Given the description of an element on the screen output the (x, y) to click on. 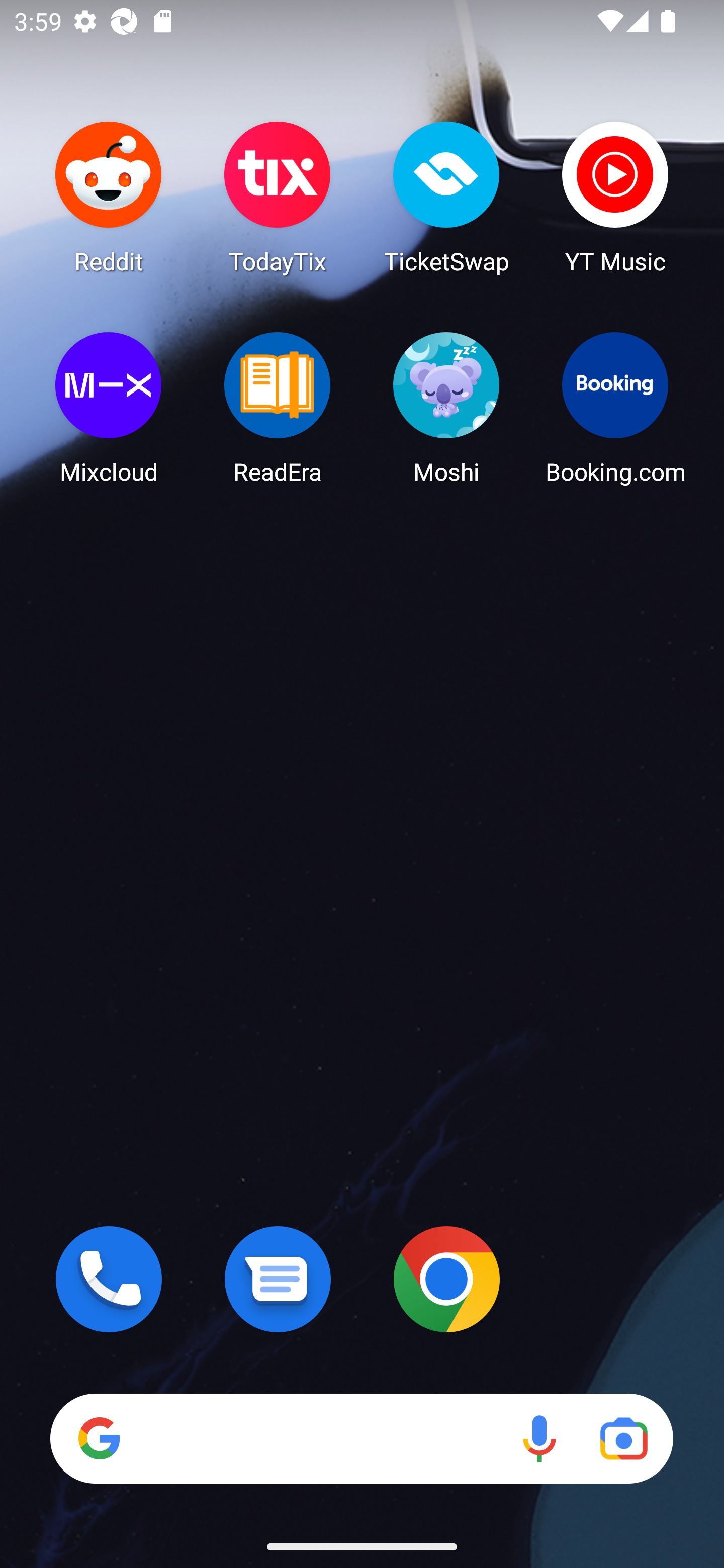
Reddit (108, 196)
TodayTix (277, 196)
TicketSwap (445, 196)
YT Music (615, 196)
Mixcloud (108, 407)
ReadEra (277, 407)
Moshi (445, 407)
Booking.com (615, 407)
Phone (108, 1279)
Messages (277, 1279)
Chrome (446, 1279)
Search Voice search Google Lens (361, 1438)
Voice search (539, 1438)
Google Lens (623, 1438)
